Given the description of an element on the screen output the (x, y) to click on. 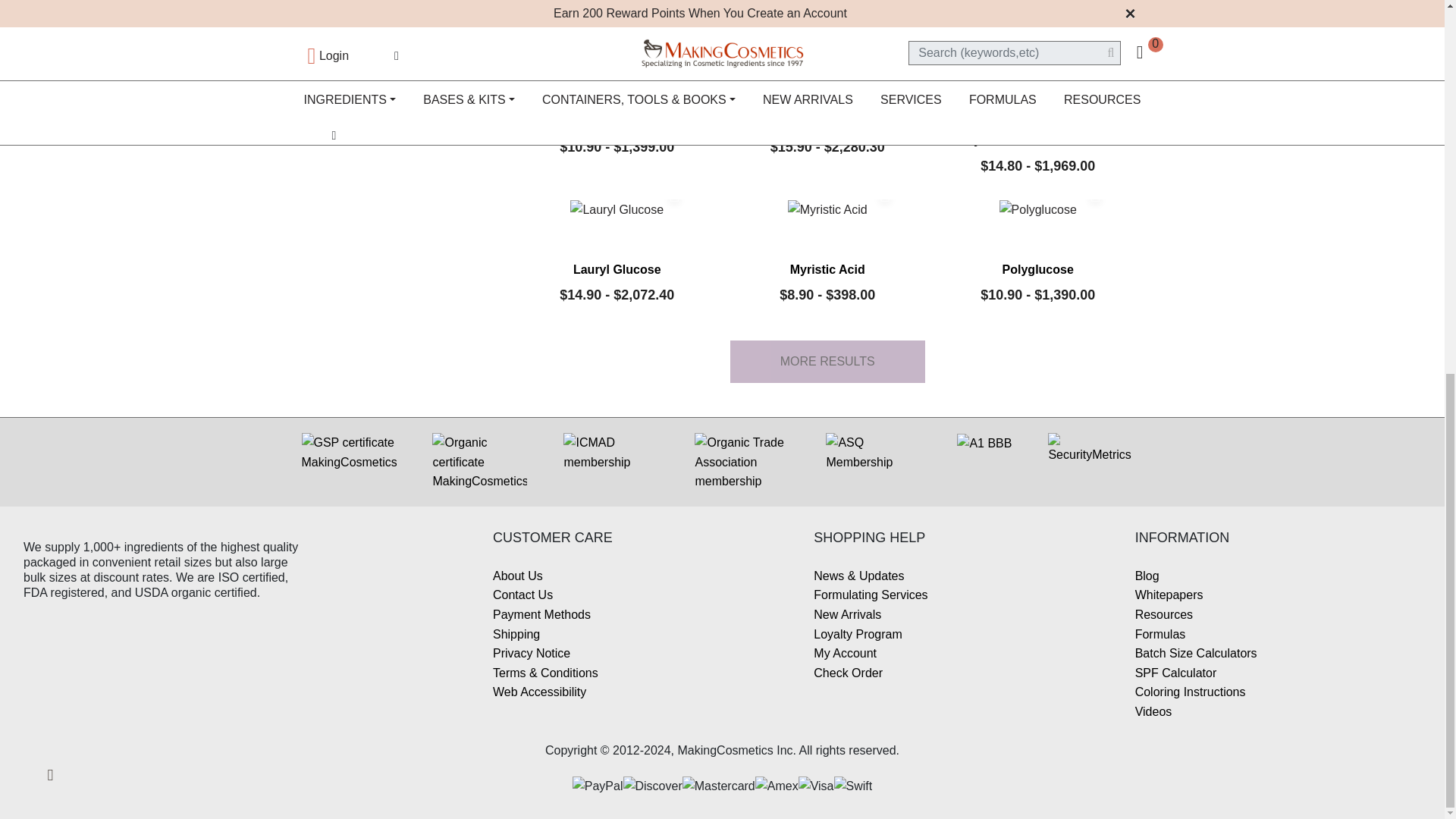
Coco Betaine (617, 62)
Quick View for Coco Glucose (885, 43)
Quick View for Coco Betaine (675, 43)
Coco Glucose (827, 62)
